Given the description of an element on the screen output the (x, y) to click on. 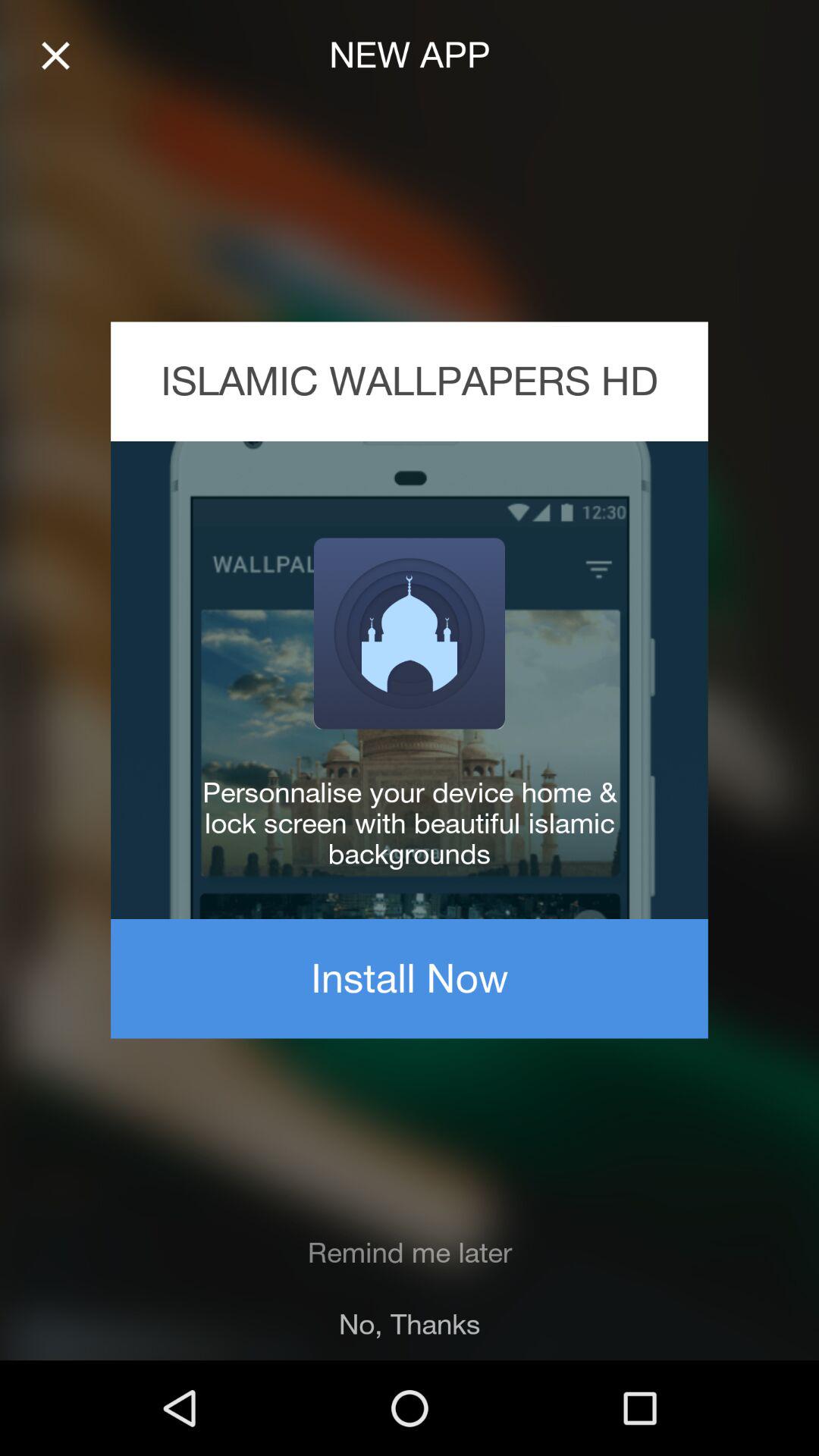
turn on icon below remind me later (409, 1324)
